Given the description of an element on the screen output the (x, y) to click on. 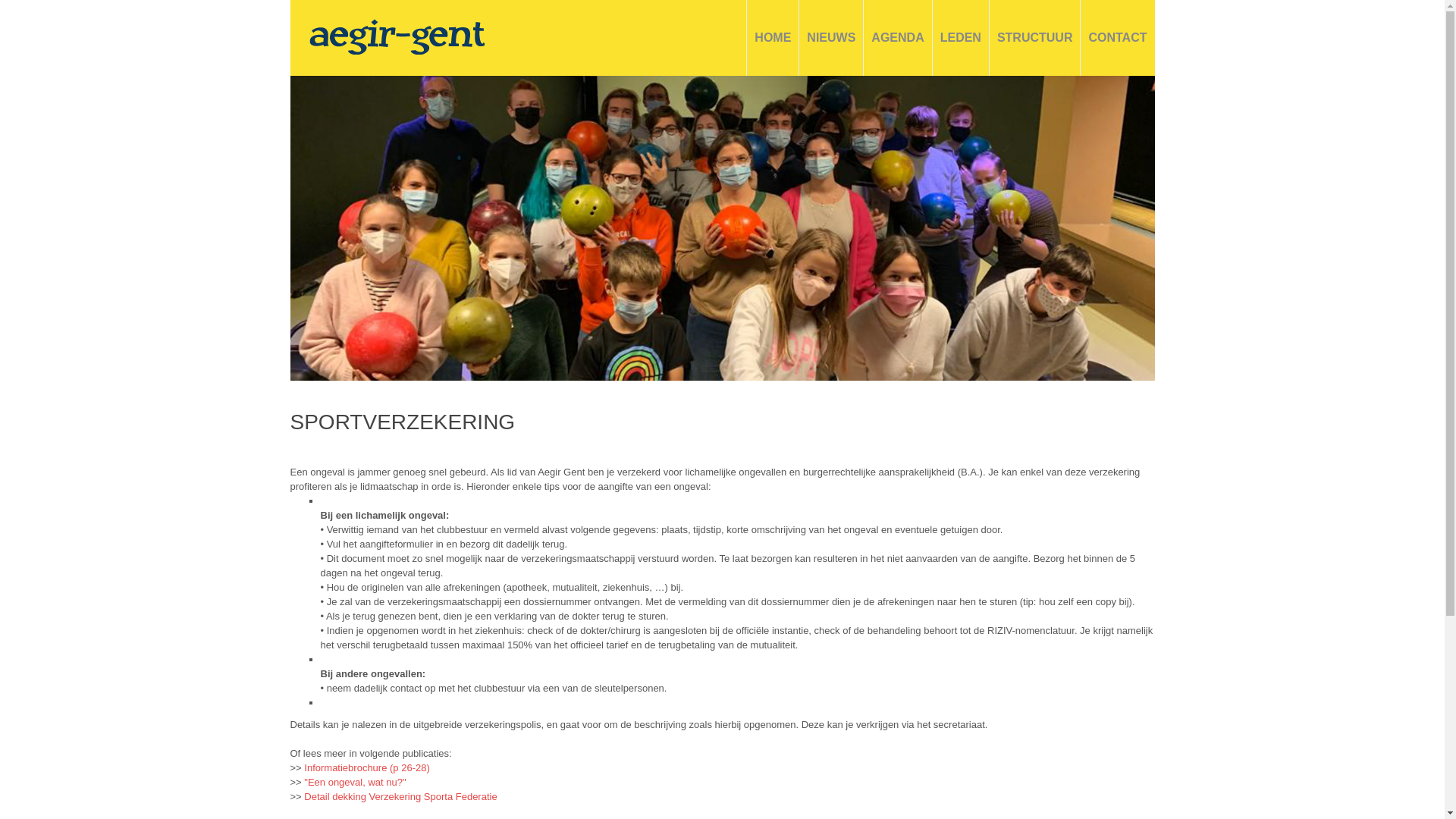
"Een ongeval, wat nu?" Element type: text (353, 781)
AGENDA Element type: text (897, 37)
STRUCTUUR Element type: text (1035, 37)
Informatiebrochure (p 26-28) Element type: text (365, 767)
NIEUWS Element type: text (830, 37)
Aegir Gent Element type: hover (396, 36)
CONTACT Element type: text (1117, 37)
LEDEN Element type: text (960, 37)
HOME Element type: text (772, 37)
Detail dekking Verzekering Sporta Federatie Element type: text (400, 796)
